Given the description of an element on the screen output the (x, y) to click on. 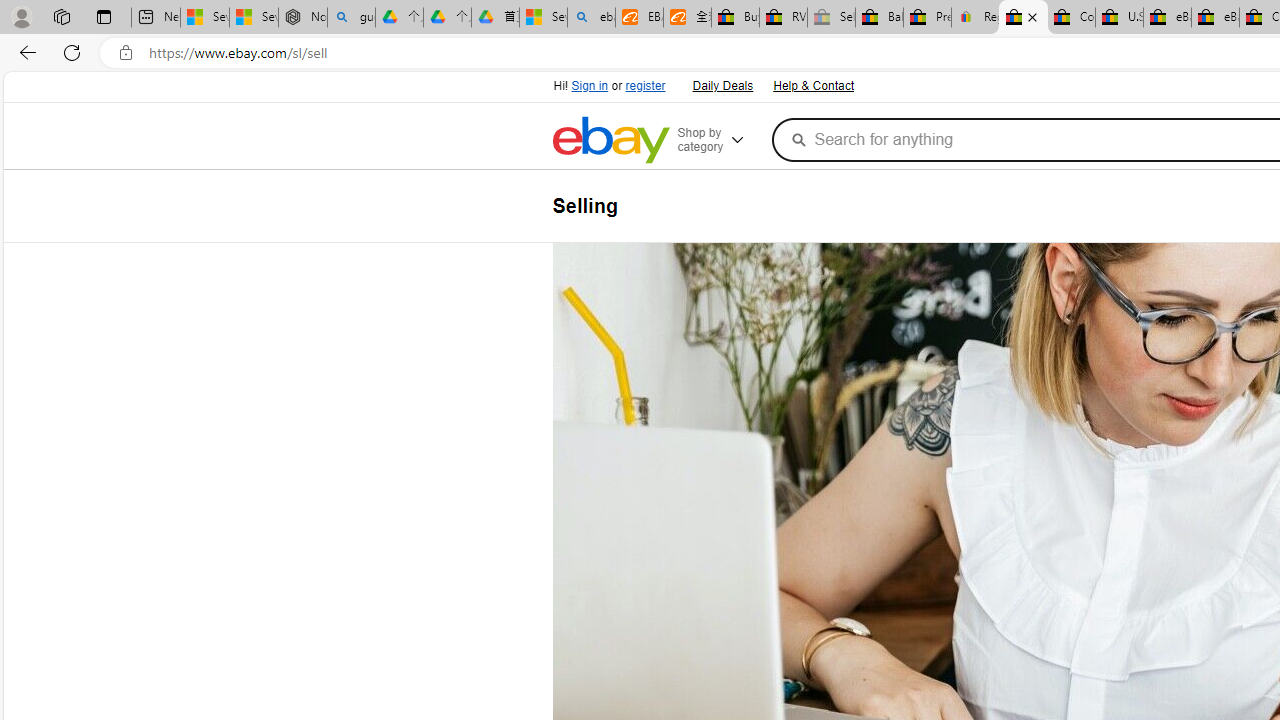
Daily Deals (722, 86)
eBay Home (610, 139)
U.S. State Privacy Disclosures - eBay Inc. (1119, 17)
eBay Home (610, 139)
